Given the description of an element on the screen output the (x, y) to click on. 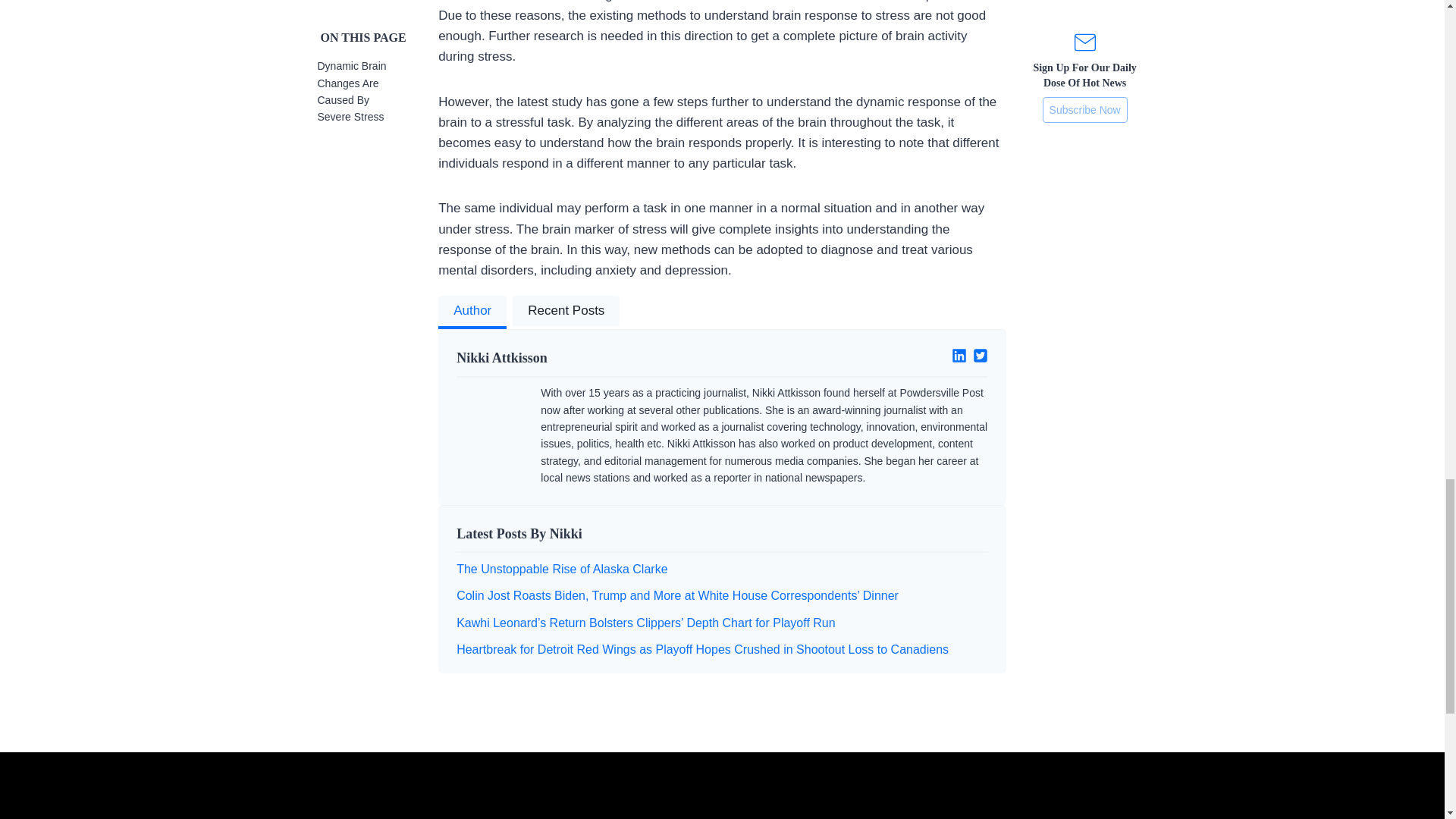
Author (472, 312)
Nikki Attkisson (583, 358)
The Unstoppable Rise of Alaska Clarke (561, 568)
Recent Posts (566, 312)
